Given the description of an element on the screen output the (x, y) to click on. 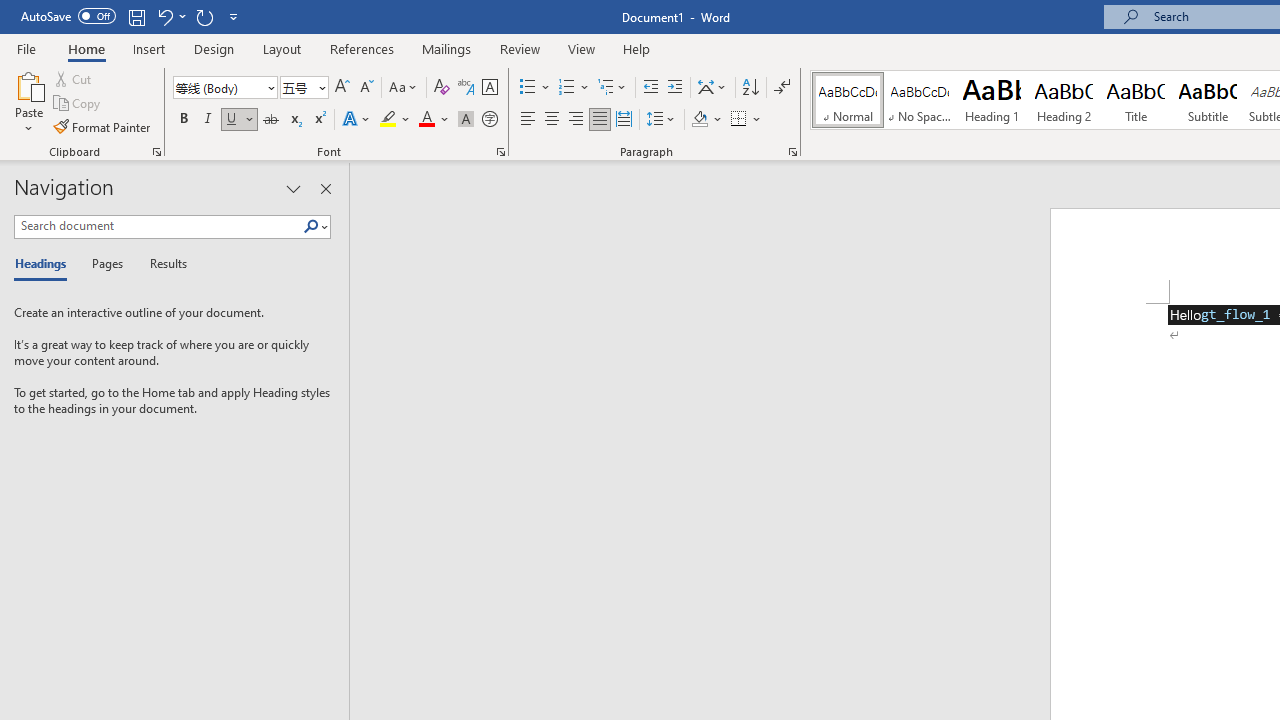
Close pane (325, 188)
Font Color (434, 119)
Paragraph... (792, 151)
Enclose Characters... (489, 119)
Line and Paragraph Spacing (661, 119)
Character Border (489, 87)
Font Color Red (426, 119)
Shading (706, 119)
